Given the description of an element on the screen output the (x, y) to click on. 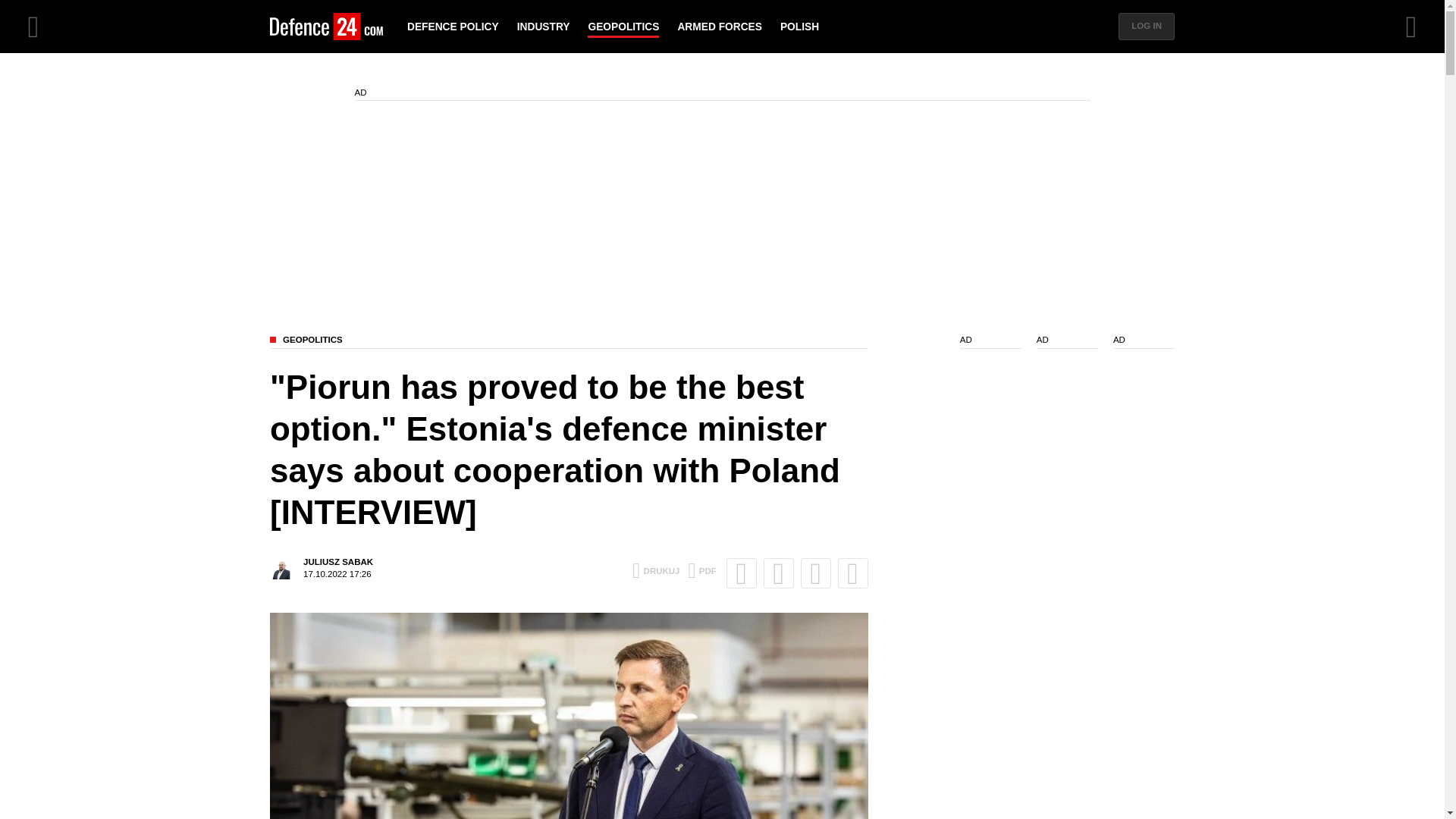
ARMED FORCES (719, 27)
Instagram (852, 572)
INDUSTRY (543, 27)
Facebook (741, 572)
LinkedIn (815, 572)
GEOPOLITICS (568, 341)
GEOPOLITICS (623, 27)
LOG IN (1146, 26)
POLISH (320, 568)
DRUKUJ (799, 27)
Twitter (655, 570)
PDF (777, 572)
DEFENCE POLICY (701, 570)
